Given the description of an element on the screen output the (x, y) to click on. 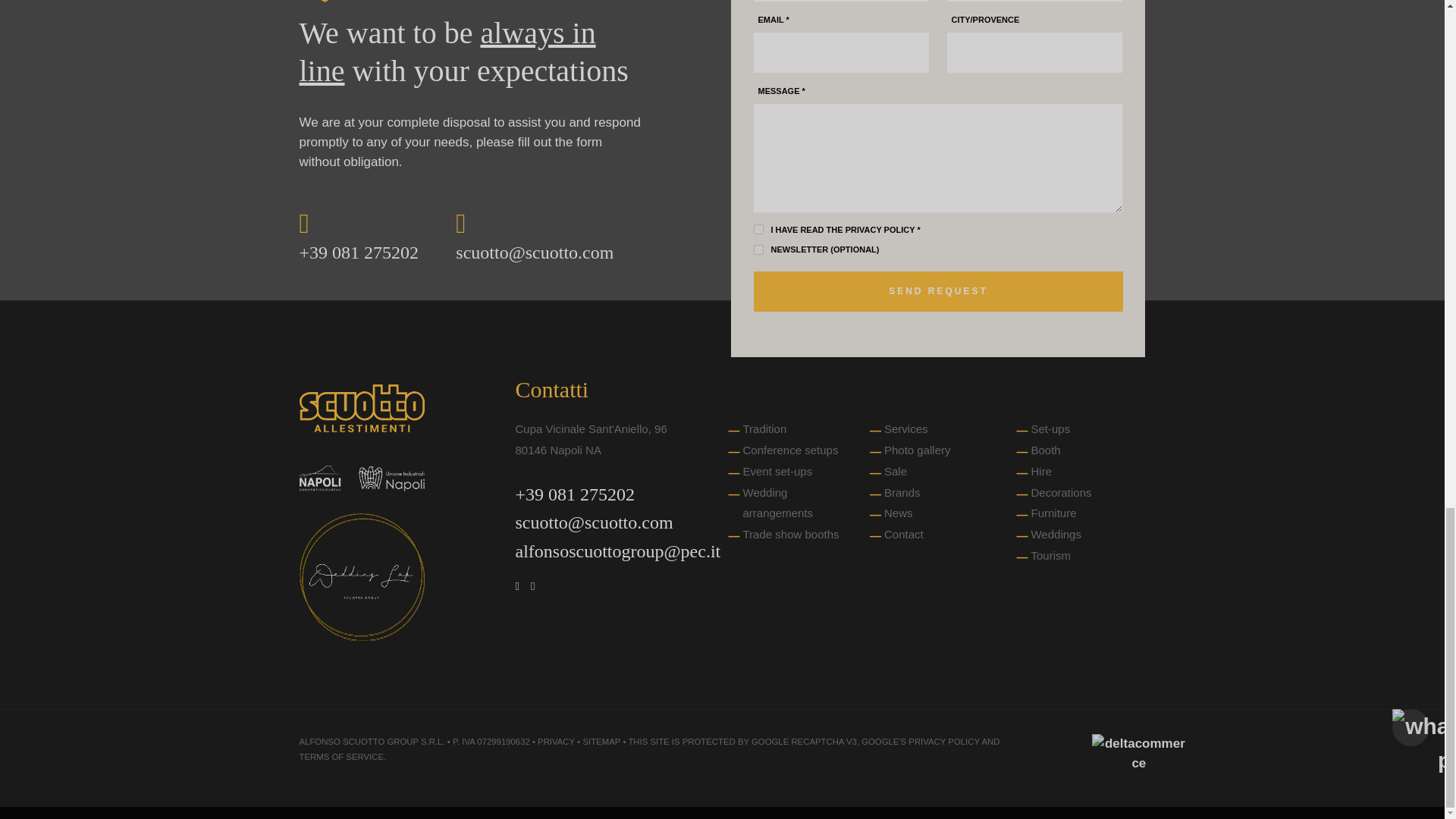
SEND REQUEST (938, 291)
true (758, 229)
1 (758, 249)
